Given the description of an element on the screen output the (x, y) to click on. 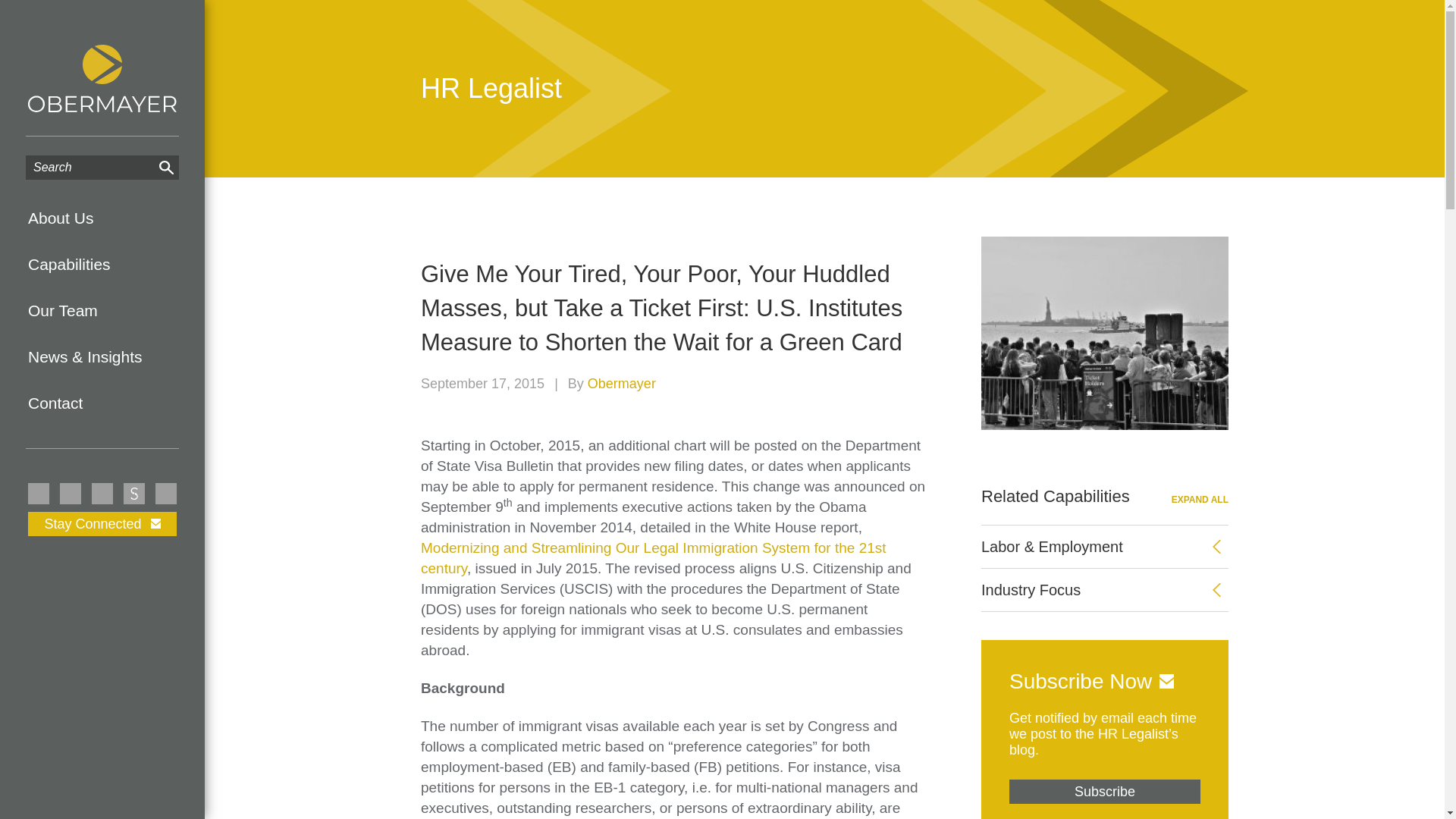
Capabilities (102, 264)
Posts by Obermayer (622, 383)
About Us (102, 217)
